Given the description of an element on the screen output the (x, y) to click on. 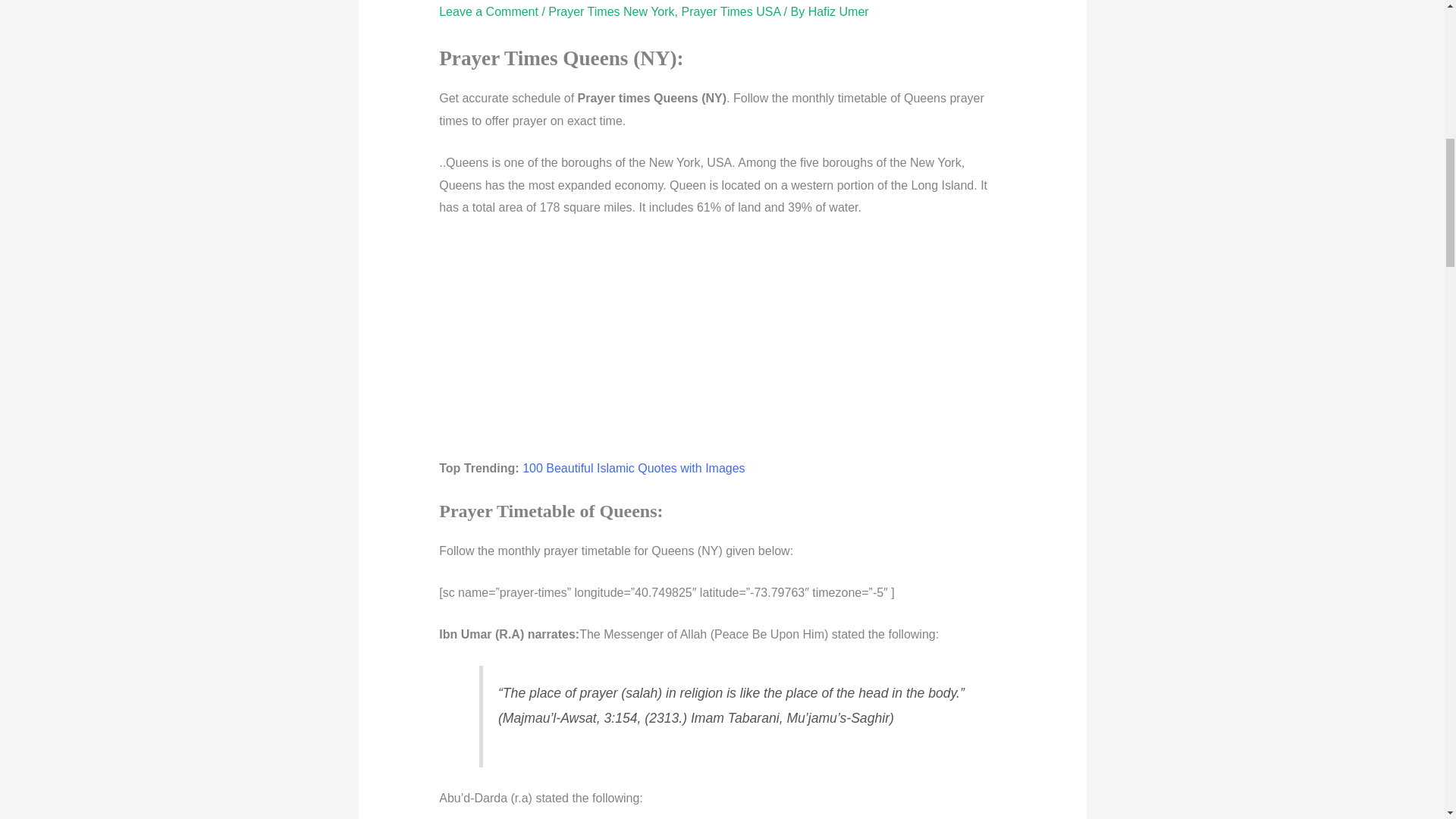
Hafiz Umer (838, 11)
Prayer Times USA (730, 11)
Prayer Times New York (611, 11)
Leave a Comment (488, 11)
Advertisement (722, 345)
View all posts by Hafiz Umer (838, 11)
100 Beautiful Islamic Quotes with Images (633, 468)
